Given the description of an element on the screen output the (x, y) to click on. 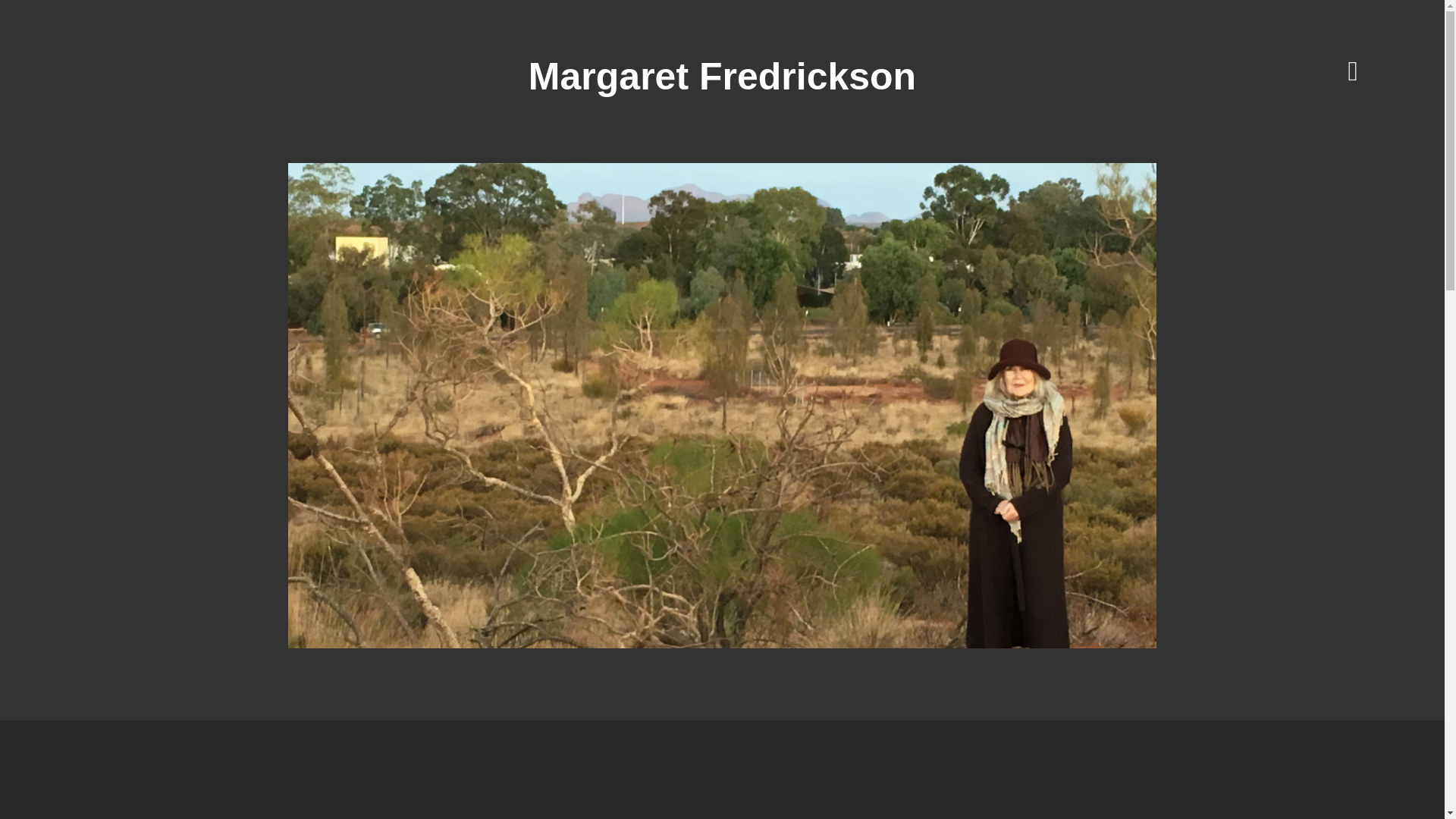
Margaret Fredrickson Element type: text (722, 76)
